Given the description of an element on the screen output the (x, y) to click on. 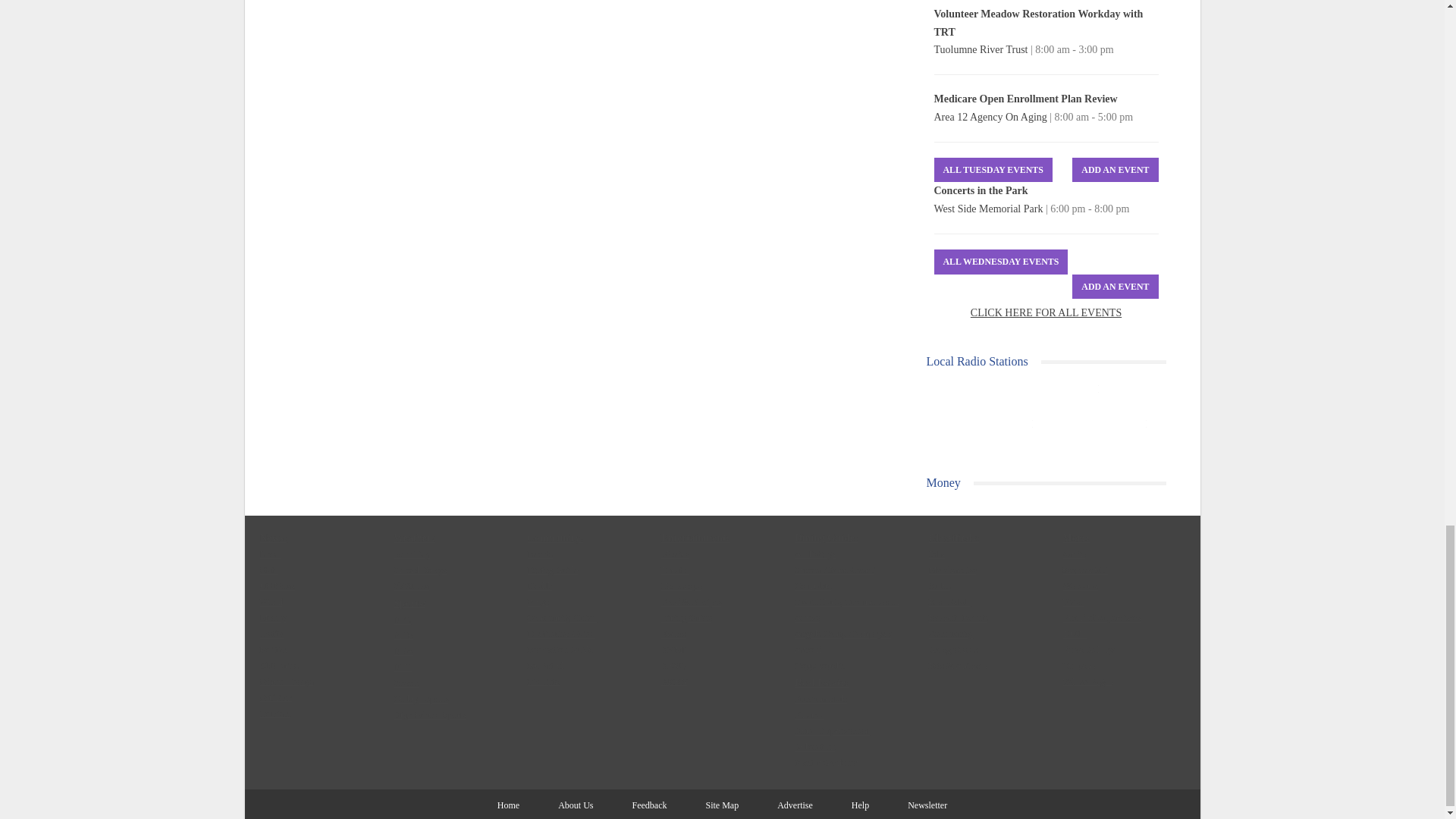
Add An Event (1114, 286)
All Tuesday Events (993, 170)
All Wednesday Events (1001, 261)
Add An Event (1114, 170)
